Given the description of an element on the screen output the (x, y) to click on. 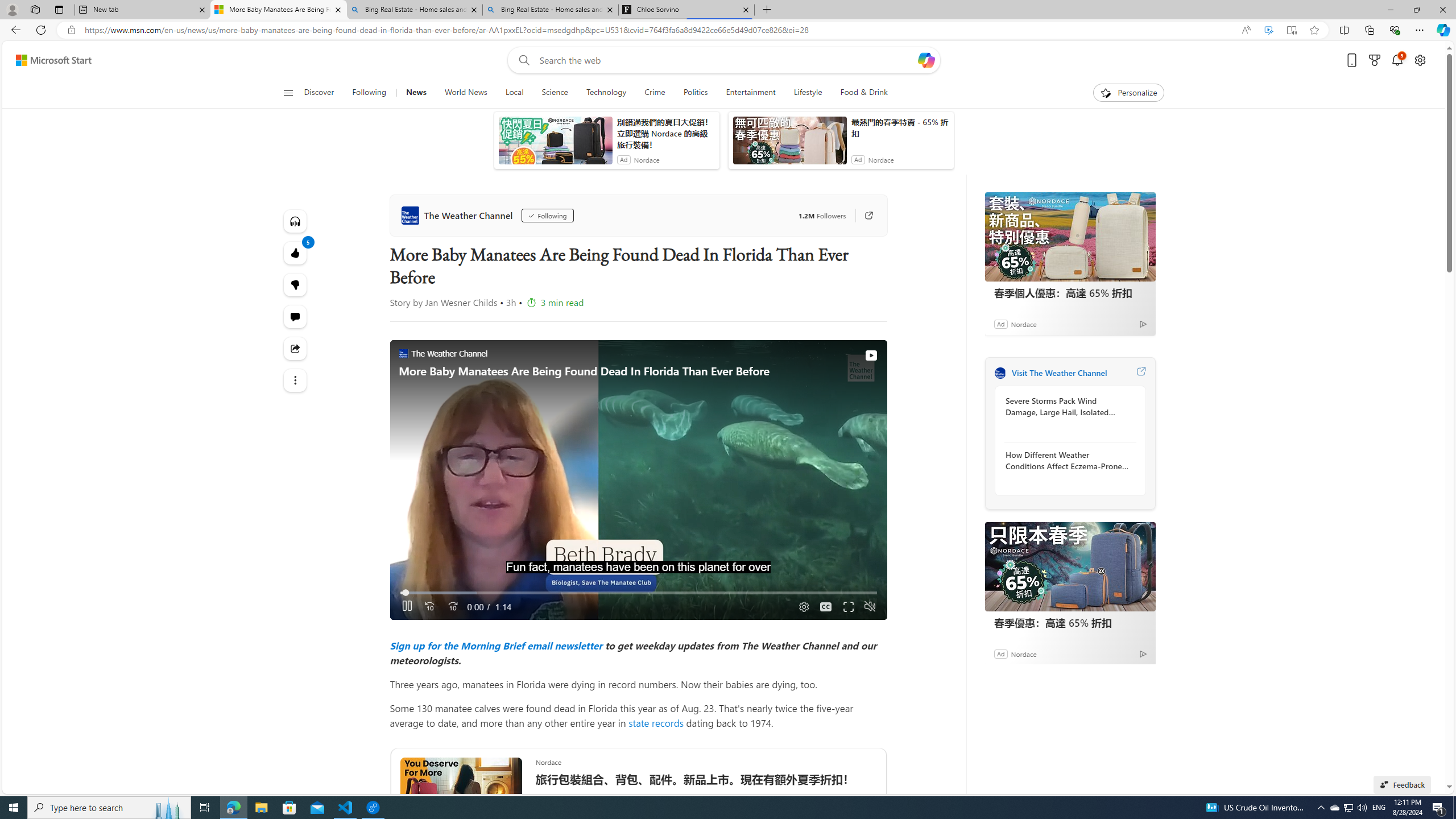
News (416, 92)
See more (295, 380)
See more (295, 380)
How Different Weather Conditions Affect Eczema-Prone Skin (1066, 459)
Discover (323, 92)
Chloe Sorvino (685, 9)
Science (554, 92)
Fullscreen (848, 606)
anim-content (789, 144)
Start the conversation (295, 316)
Visit The Weather Channel website (1140, 372)
World News (465, 92)
Food & Drink (859, 92)
